Given the description of an element on the screen output the (x, y) to click on. 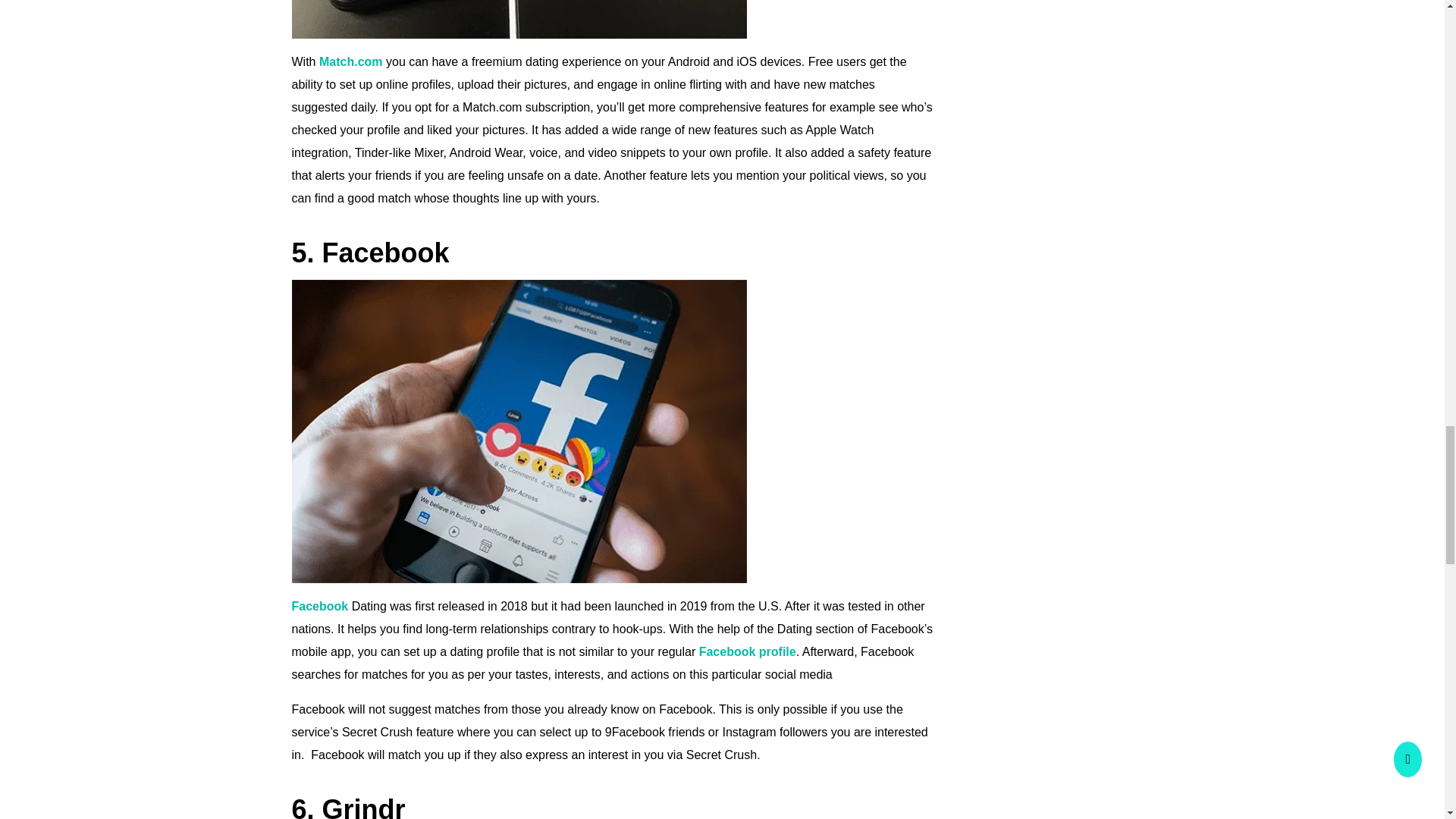
Facebook profile (747, 651)
Match.com (350, 61)
Facebook (319, 605)
